Given the description of an element on the screen output the (x, y) to click on. 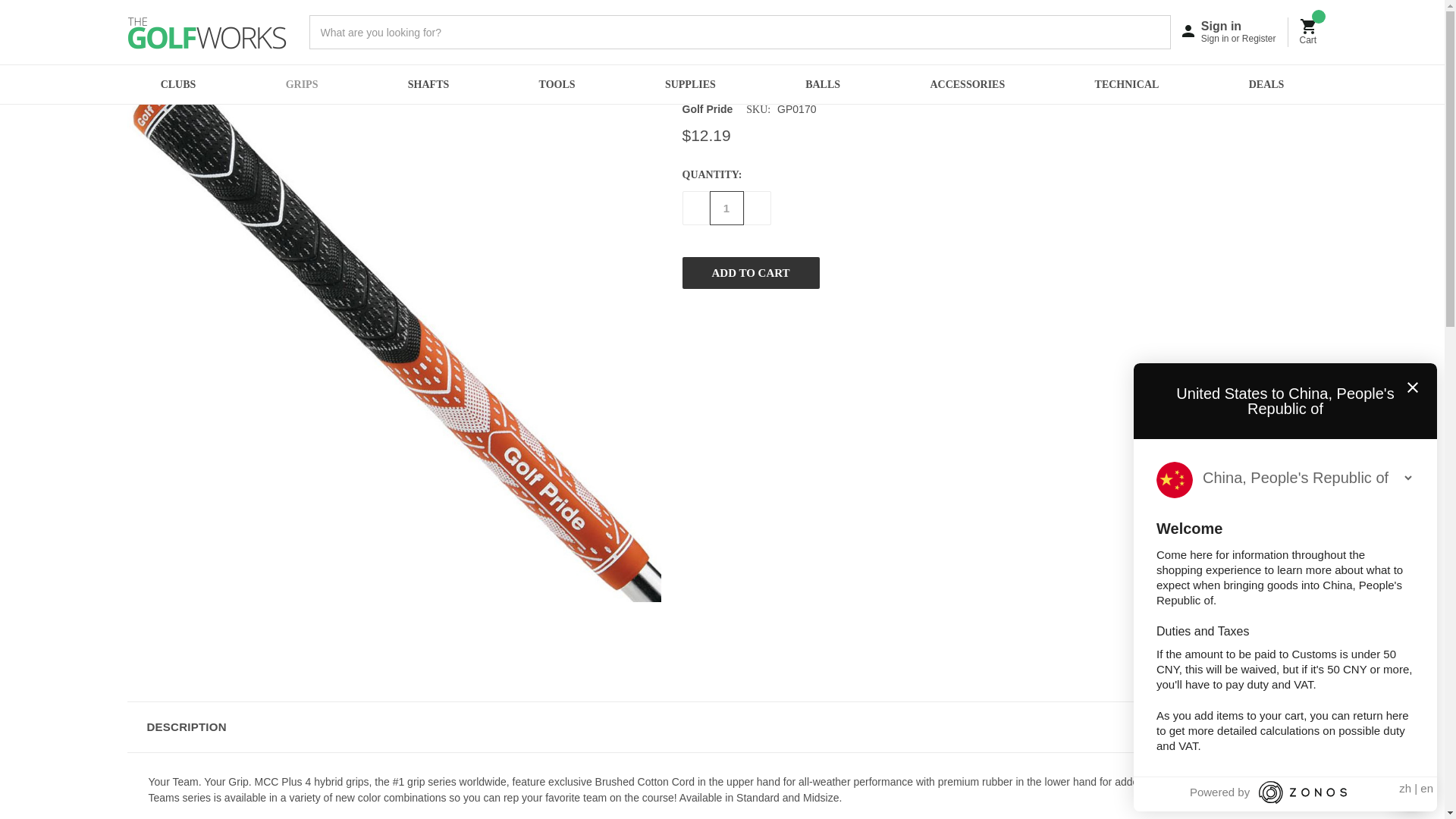
GolfWorks (207, 31)
SHAFTS (428, 84)
GRIPS (301, 84)
Add to Cart (750, 273)
CLUBS (177, 84)
1 (727, 207)
